Given the description of an element on the screen output the (x, y) to click on. 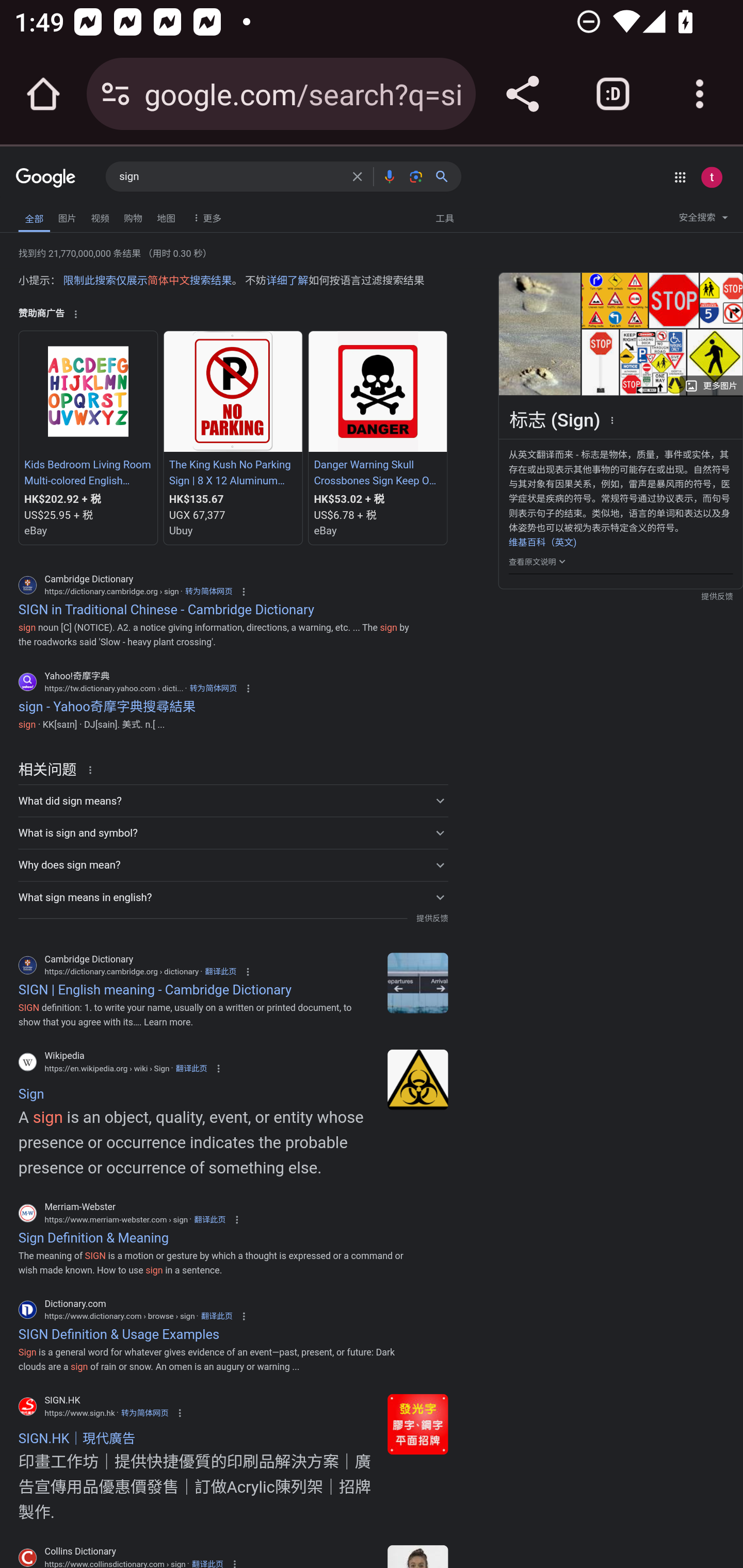
Open the home page (43, 93)
Connection is secure (115, 93)
Share (522, 93)
Switch or close tabs (612, 93)
Customize and control Google Chrome (699, 93)
清除 (357, 176)
按语音搜索 (388, 176)
按图搜索 (415, 176)
搜索 (445, 176)
Google 应用 (679, 176)
Google 账号： test appium (testappium002@gmail.com) (711, 176)
Google (45, 178)
sign (229, 177)
无障碍功能反馈 (42, 212)
图片 (67, 216)
视频 (99, 216)
购物 (133, 216)
地图 (166, 216)
更多 (205, 216)
安全搜索 (703, 219)
工具 (443, 216)
限制此搜索仅展示简体中文搜索结果 限制此搜索仅展示 简体中文 搜索结果 (146, 280)
详细了解 (287, 280)
为什么会显示该广告？ (75, 314)
转为简体网页 (208, 591)
转为简体网页 (212, 688)
关于这条结果的详细信息 (93, 769)
What did sign means? (232, 800)
What is sign and symbol? (232, 832)
Why does sign mean? (232, 864)
What sign means in english? (232, 896)
提供反馈 (432, 917)
sign (417, 981)
翻译此页 (220, 970)
Sign (417, 1079)
翻译此页 (190, 1067)
翻译此页 (209, 1219)
翻译此页 (216, 1316)
www.sign (417, 1423)
转为简体网页 (144, 1412)
翻译此页 (206, 1562)
